Given the description of an element on the screen output the (x, y) to click on. 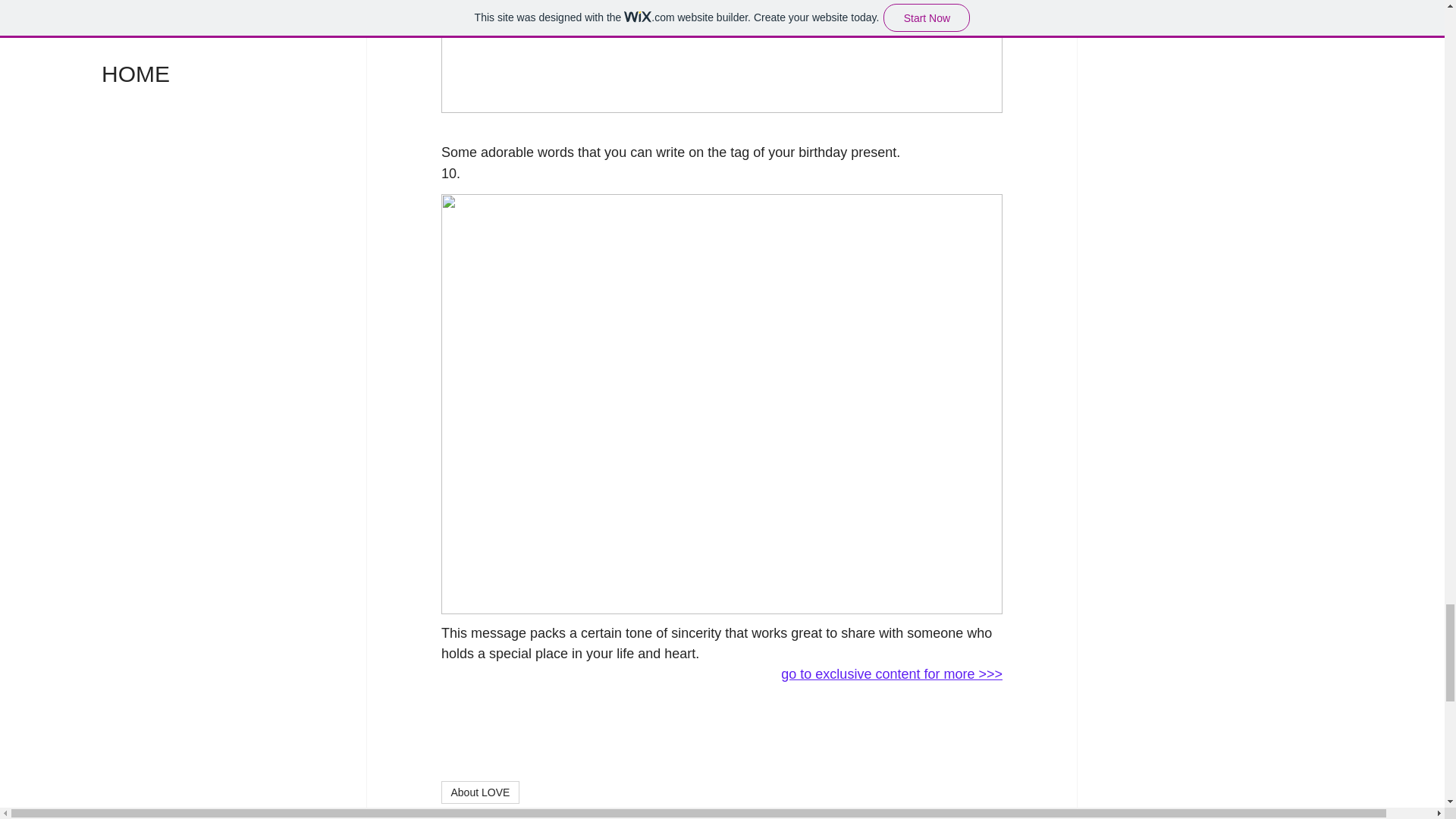
About LOVE (480, 792)
